Given the description of an element on the screen output the (x, y) to click on. 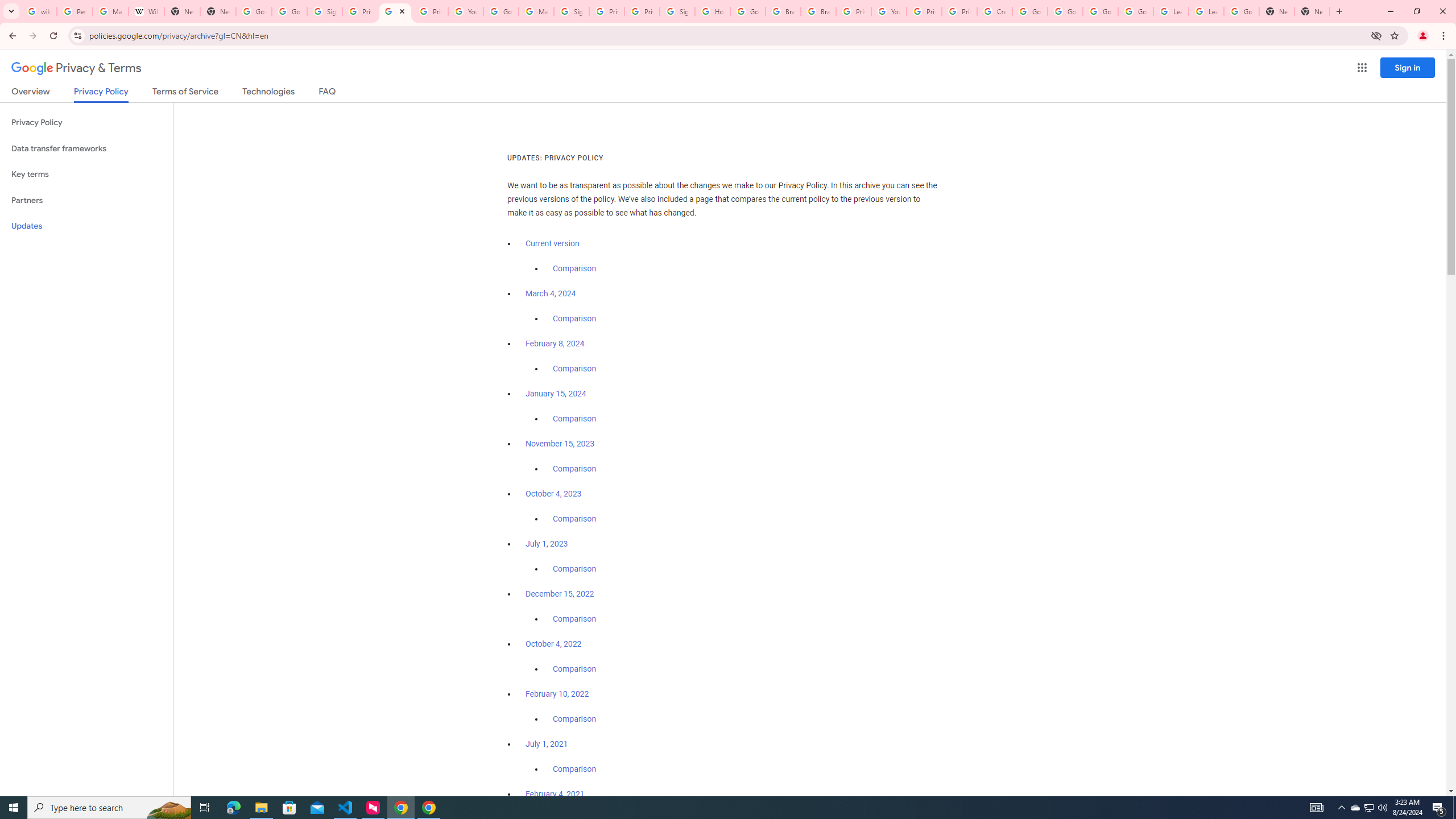
Manage your Location History - Google Search Help (110, 11)
Privacy Policy (86, 122)
Key terms (86, 174)
Sign in - Google Accounts (571, 11)
Overview (30, 93)
New Tab (1276, 11)
Google Account Help (1029, 11)
Privacy & Terms (76, 68)
February 8, 2024 (555, 343)
December 15, 2022 (559, 593)
